Given the description of an element on the screen output the (x, y) to click on. 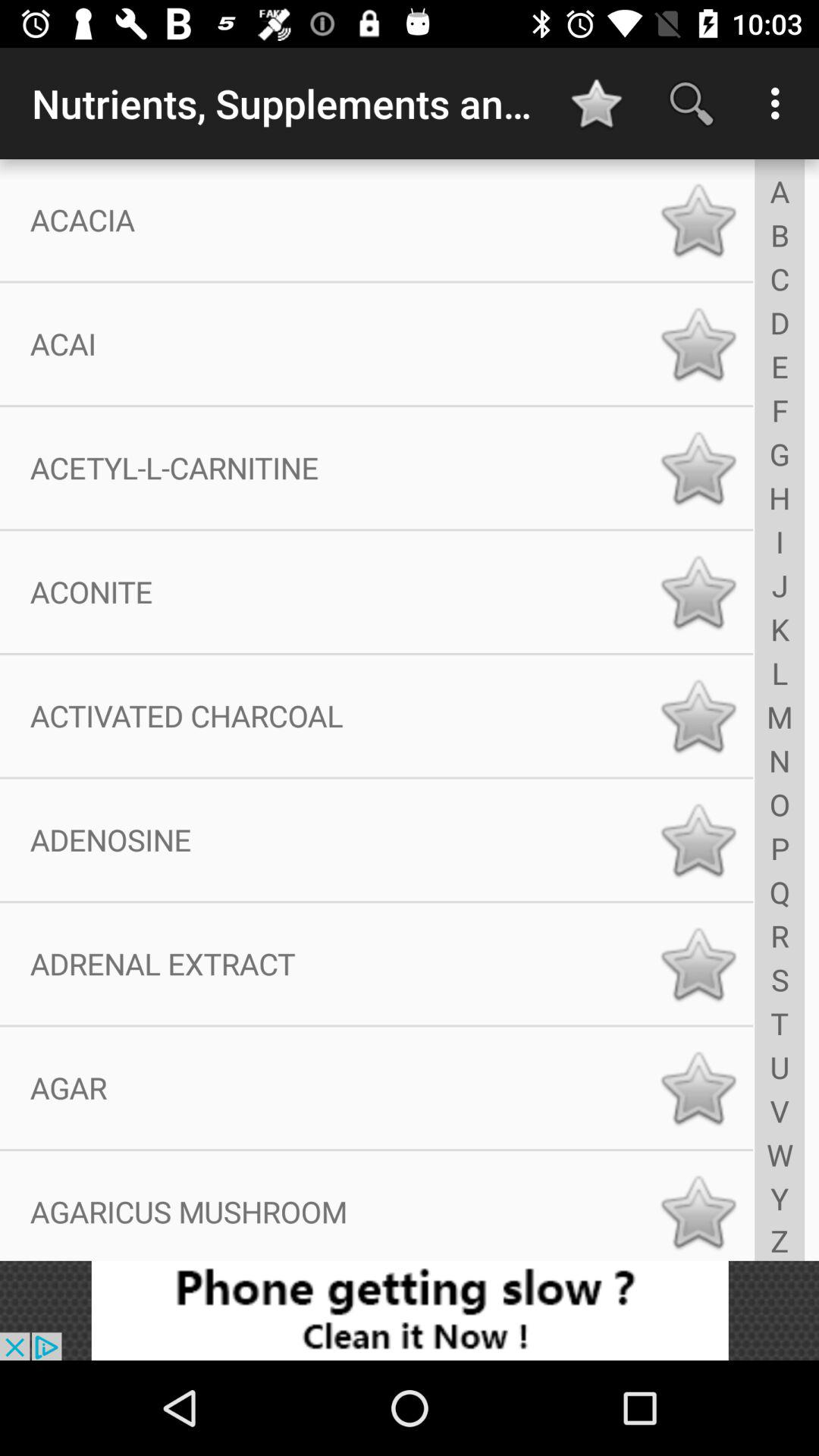
select as favourite (697, 715)
